Given the description of an element on the screen output the (x, y) to click on. 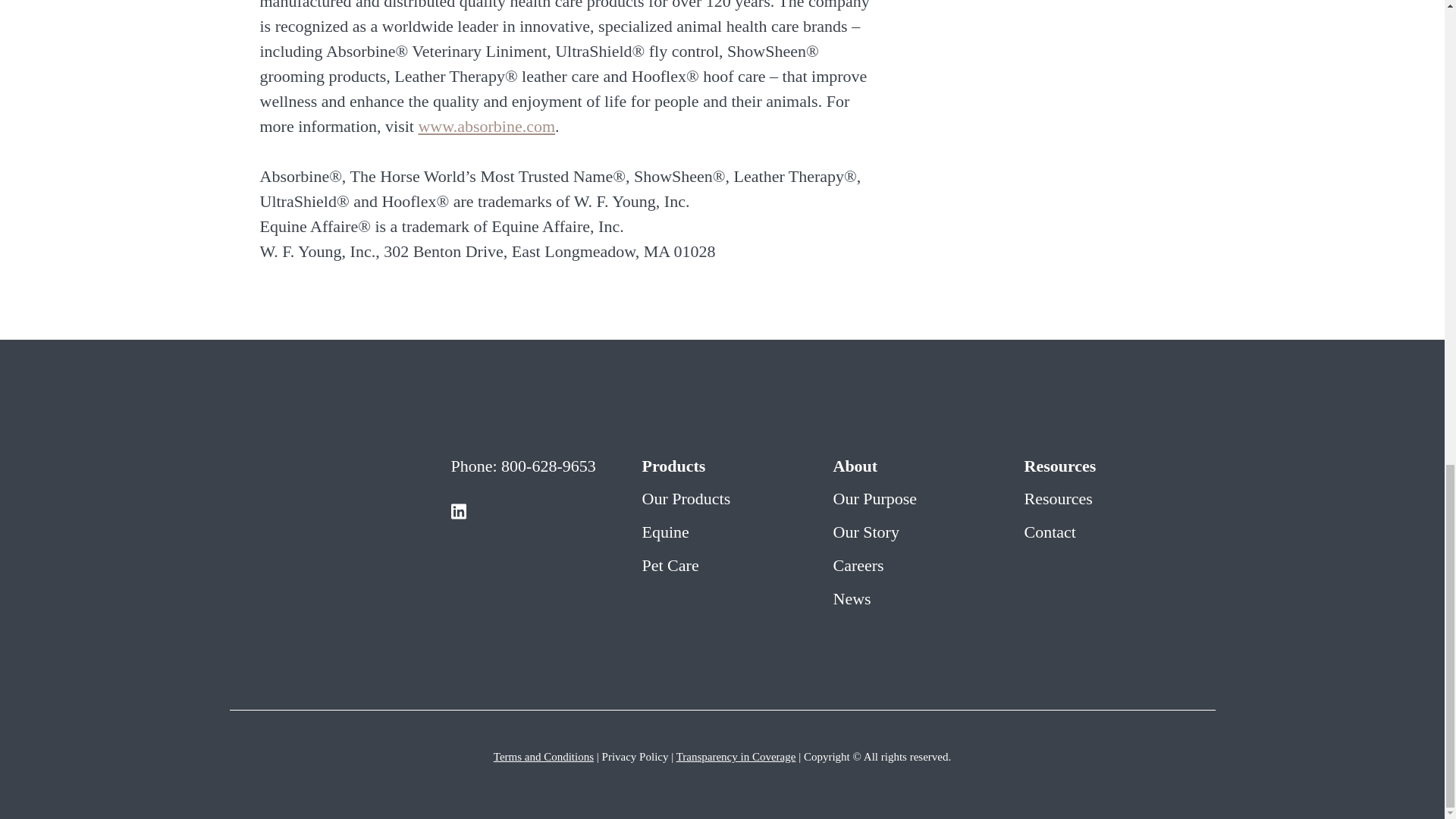
www.absorbine.com (485, 126)
Our Story (865, 531)
Terms and Conditions (543, 756)
Our Products (686, 497)
Pet Care (670, 565)
Resources (1057, 497)
Careers (857, 565)
Contact (1049, 531)
Transparency in Coverage (736, 756)
News (851, 598)
Equine (665, 531)
Our Purpose (874, 497)
